Given the description of an element on the screen output the (x, y) to click on. 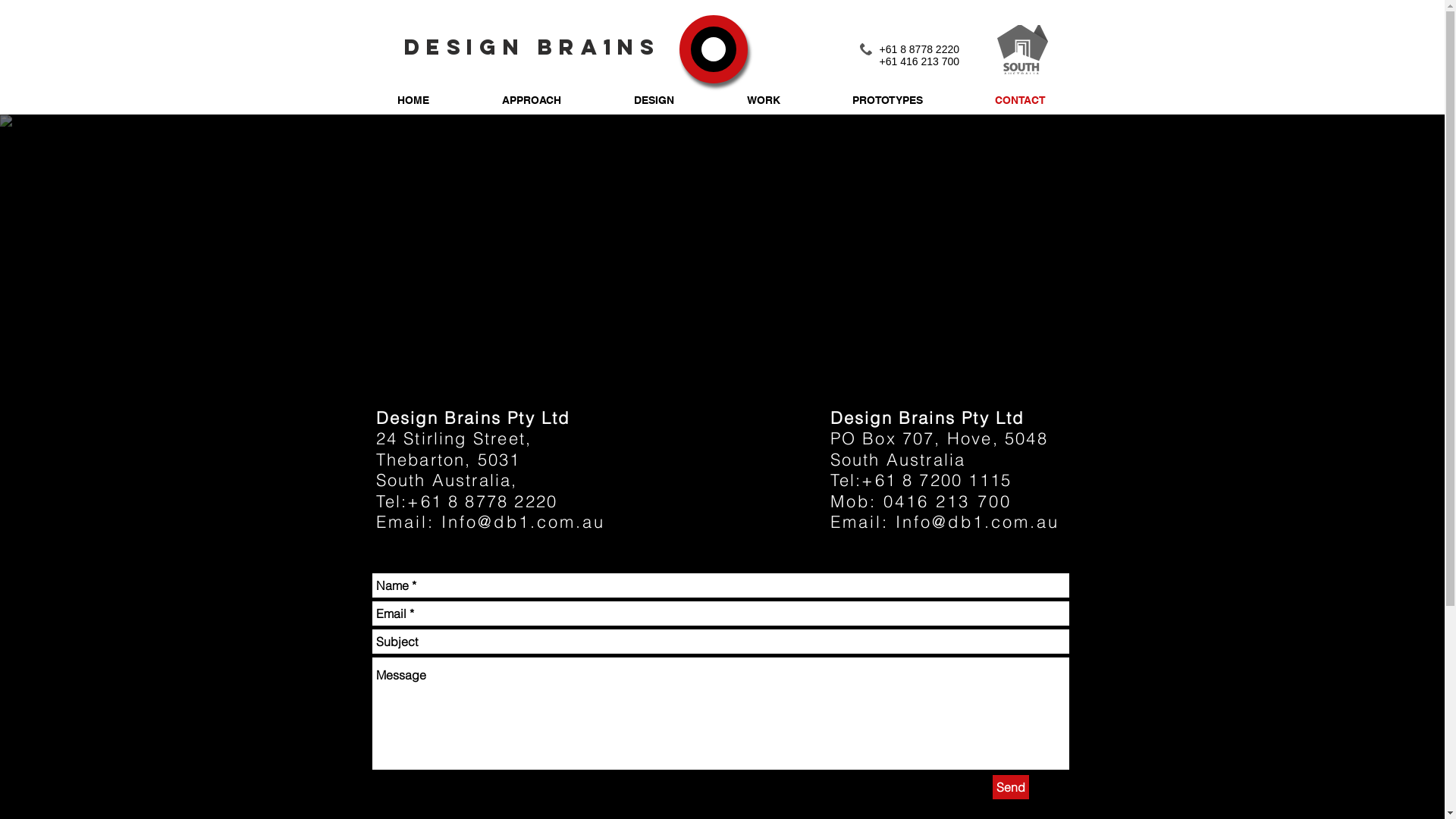
WORK Element type: text (762, 99)
HOME Element type: text (412, 99)
PROTOTYPES Element type: text (886, 99)
Info@db1.com.au Element type: text (977, 521)
Send Element type: text (1009, 787)
CONTACT Element type: text (1019, 99)
APPROACH Element type: text (531, 99)
DESIGN Element type: text (653, 99)
Info@db1.com.au Element type: text (523, 521)
